Given the description of an element on the screen output the (x, y) to click on. 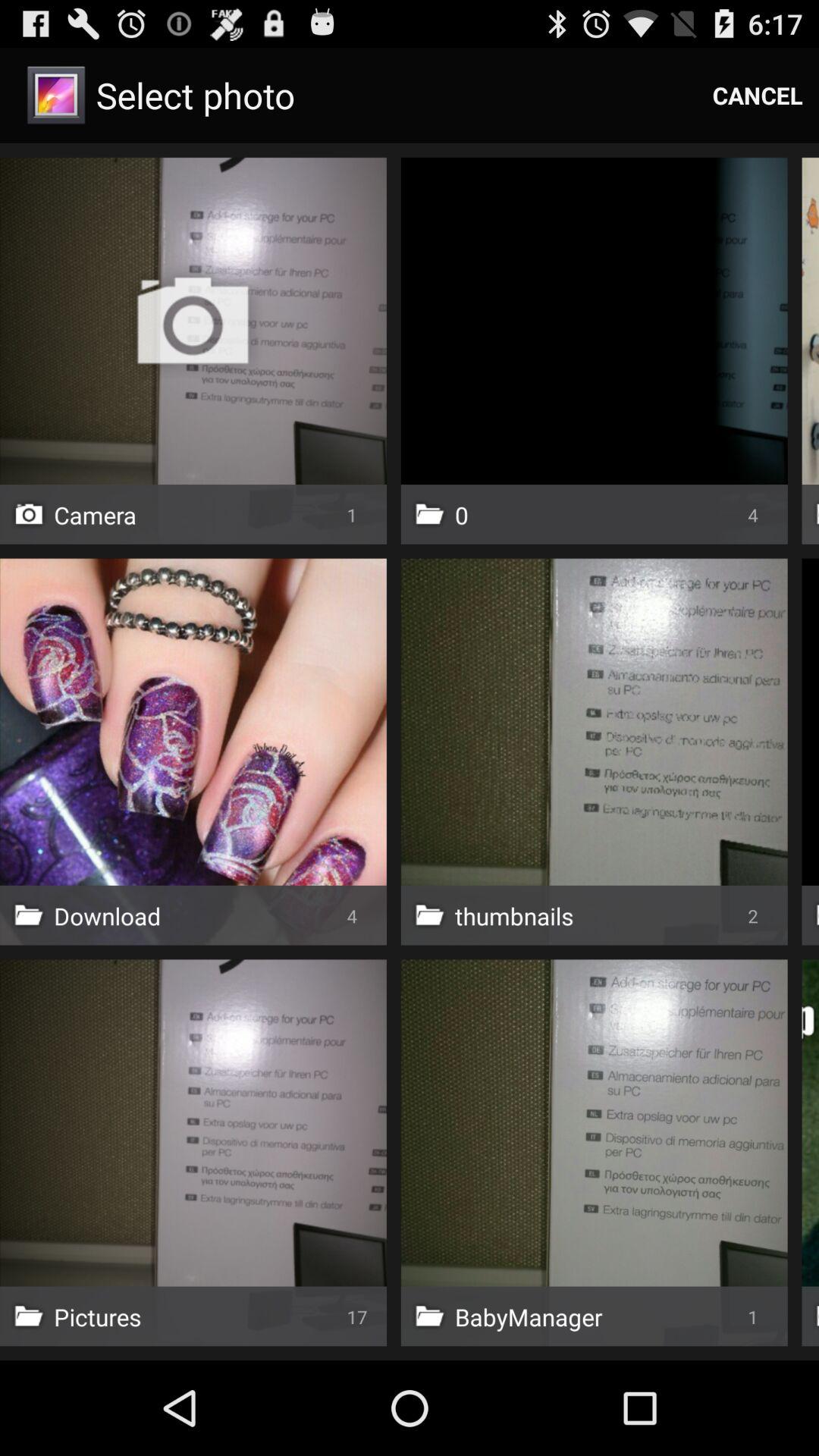
click the item at the top right corner (757, 95)
